Given the description of an element on the screen output the (x, y) to click on. 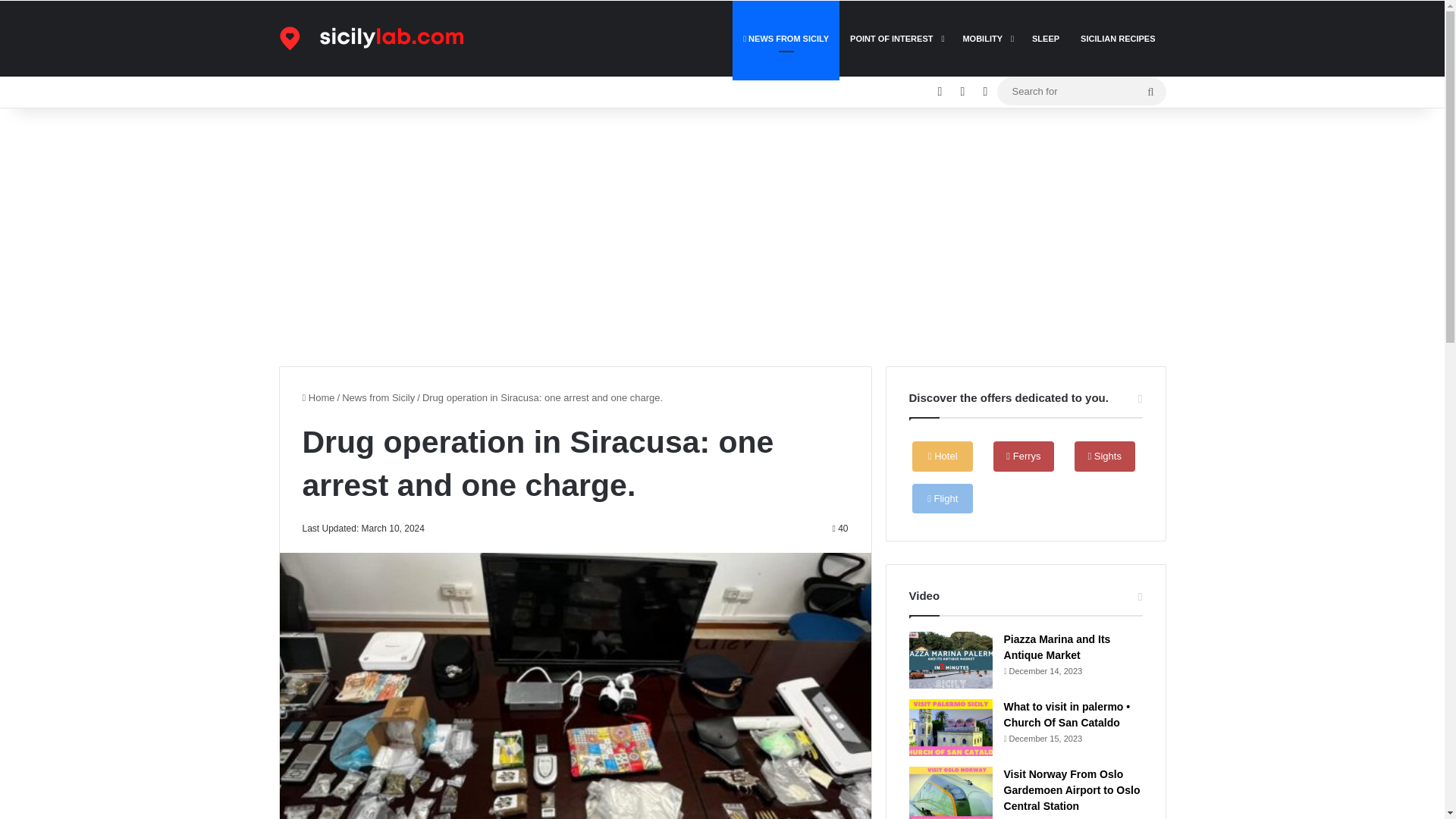
Sicilylab (381, 38)
Hotel (942, 456)
Search for (1150, 91)
MOBILITY (987, 38)
Home (317, 397)
News from Sicily (378, 397)
Piazza Marina and Its Antique Market (1057, 646)
NEWS FROM SICILY (786, 38)
Search for (1080, 90)
Ferrys (1023, 456)
SICILIAN RECIPES (1118, 38)
Sights (1104, 456)
Flight (942, 499)
